Given the description of an element on the screen output the (x, y) to click on. 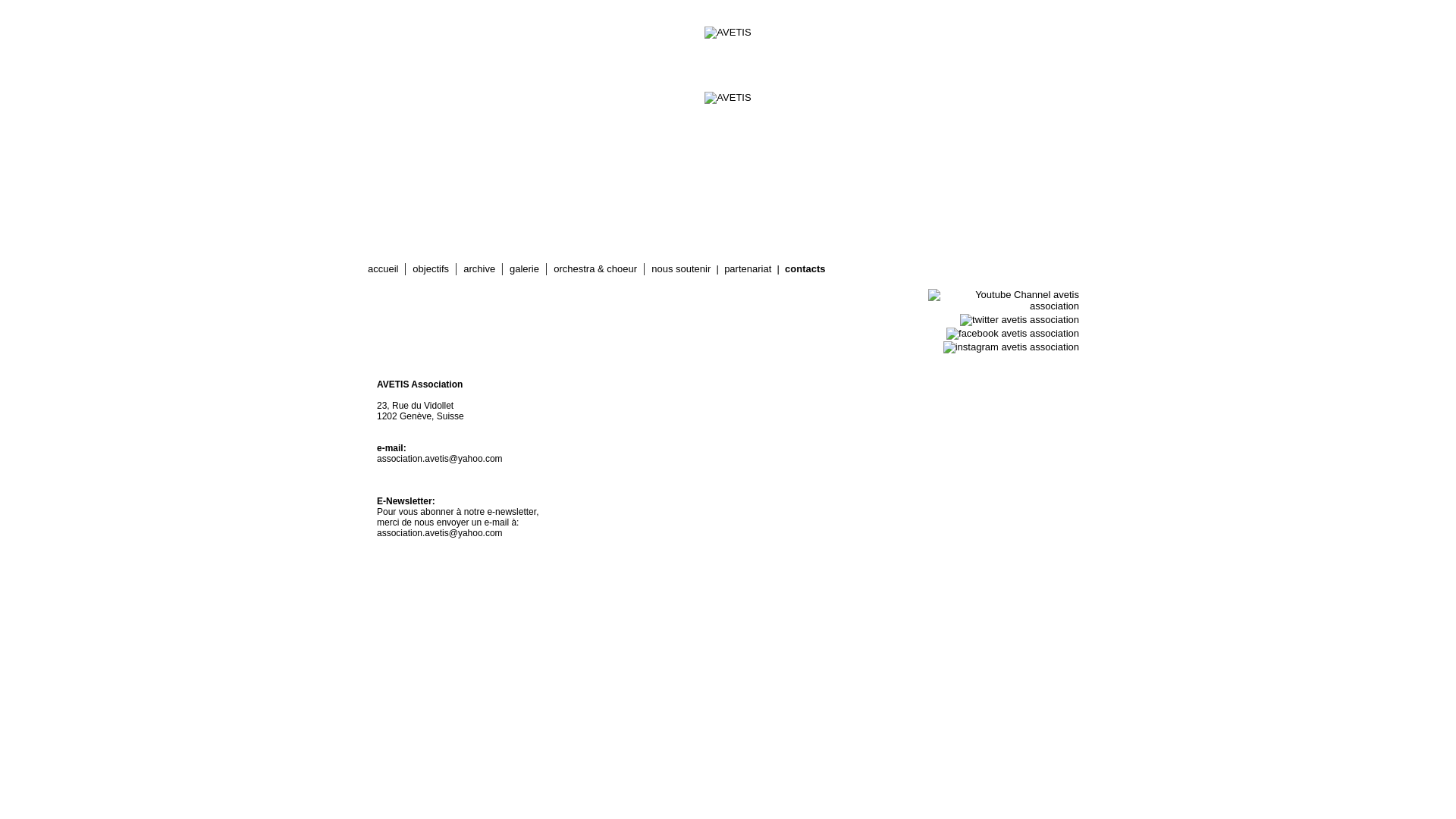
archive Element type: text (479, 268)
orchestra & choeur Element type: text (595, 268)
contacts Element type: text (804, 268)
nous soutenir Element type: text (680, 268)
galerie Element type: text (524, 268)
partenariat Element type: text (747, 268)
accueil Element type: text (382, 268)
objectifs Element type: text (430, 268)
